Given the description of an element on the screen output the (x, y) to click on. 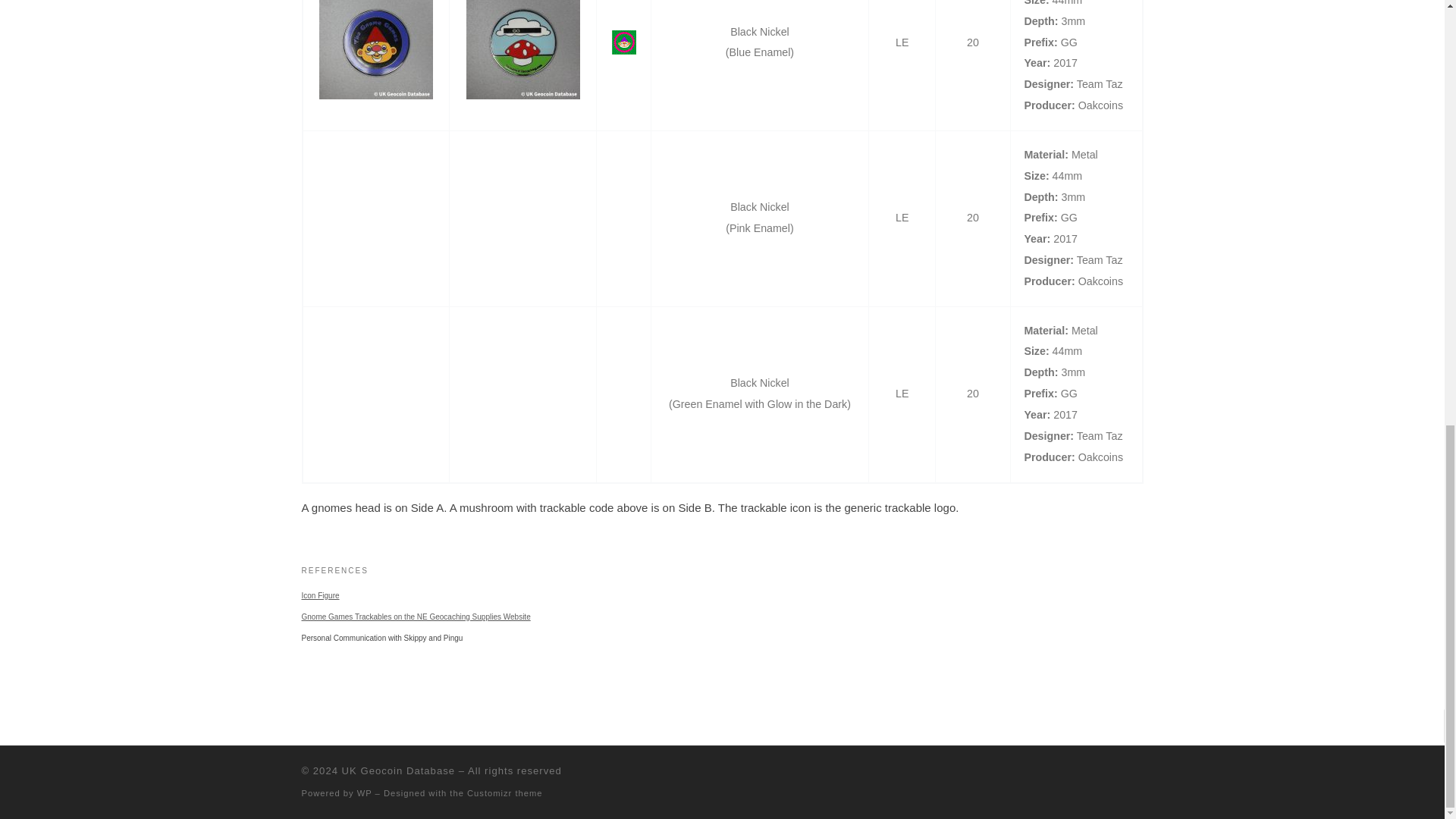
UK Geocoin Database (398, 770)
Powered by WordPress (364, 792)
Customizr theme (505, 792)
